Given the description of an element on the screen output the (x, y) to click on. 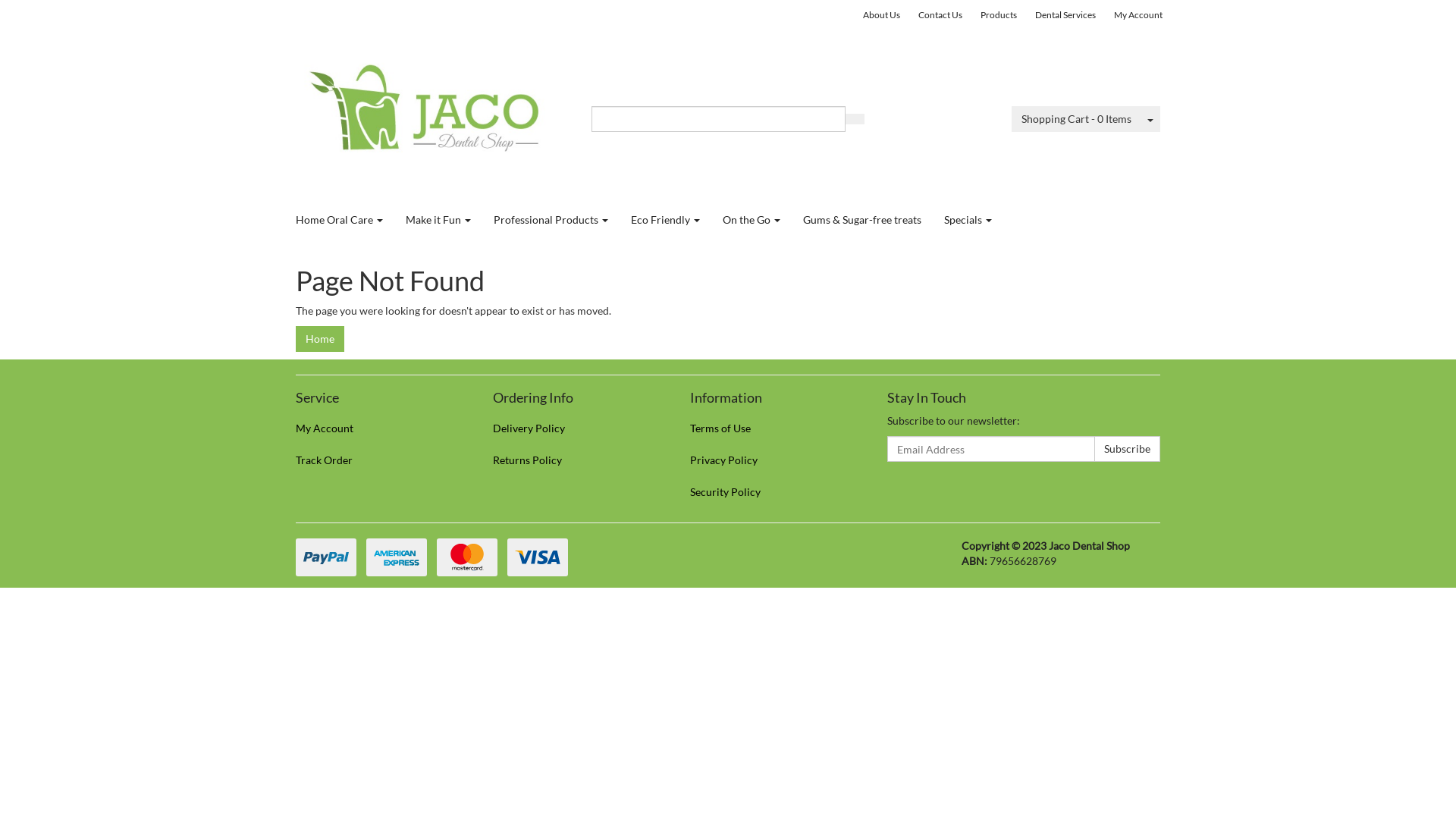
Products Element type: text (998, 15)
Gums & Sugar-free treats Element type: text (861, 219)
Track Order Element type: text (377, 460)
Professional Products Element type: text (550, 219)
Specials Element type: text (967, 219)
Jaco Dental Shop Element type: hover (431, 109)
About Us Element type: text (881, 15)
Terms of Use Element type: text (771, 428)
Subscribe Element type: text (1127, 448)
Shopping Cart - 0 Items Element type: text (1076, 118)
Home Element type: text (319, 338)
On the Go Element type: text (751, 219)
Delivery Policy Element type: text (574, 428)
Returns Policy Element type: text (574, 460)
My Account Element type: text (377, 428)
Dental Services Element type: text (1065, 15)
Contact Us Element type: text (940, 15)
Security Policy Element type: text (771, 491)
Home Oral Care Element type: text (339, 219)
Eco Friendly Element type: text (665, 219)
Make it Fun Element type: text (438, 219)
Privacy Policy Element type: text (771, 460)
My Account Element type: text (1137, 15)
Search Element type: text (854, 118)
